Given the description of an element on the screen output the (x, y) to click on. 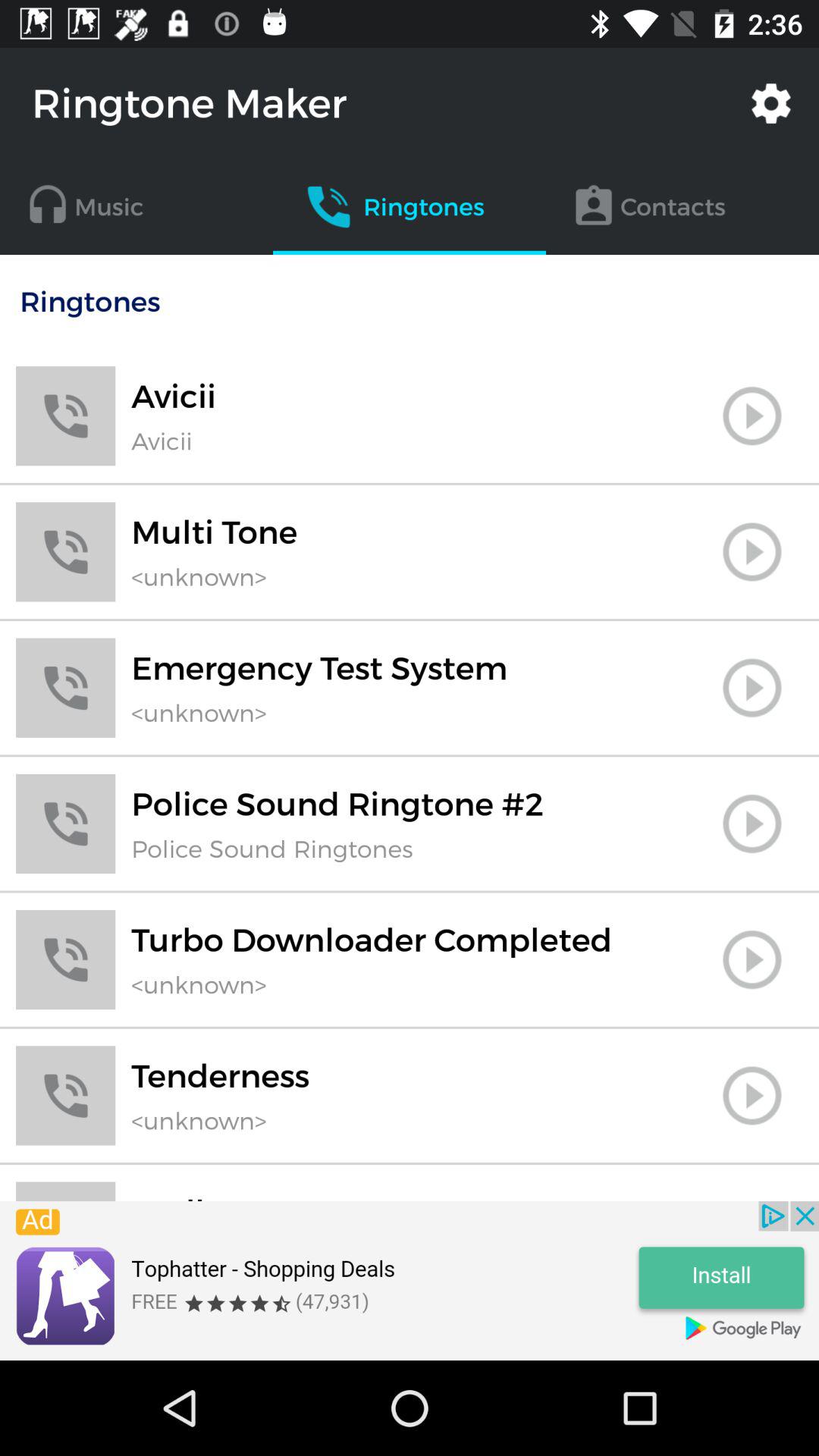
play page (752, 1095)
